Given the description of an element on the screen output the (x, y) to click on. 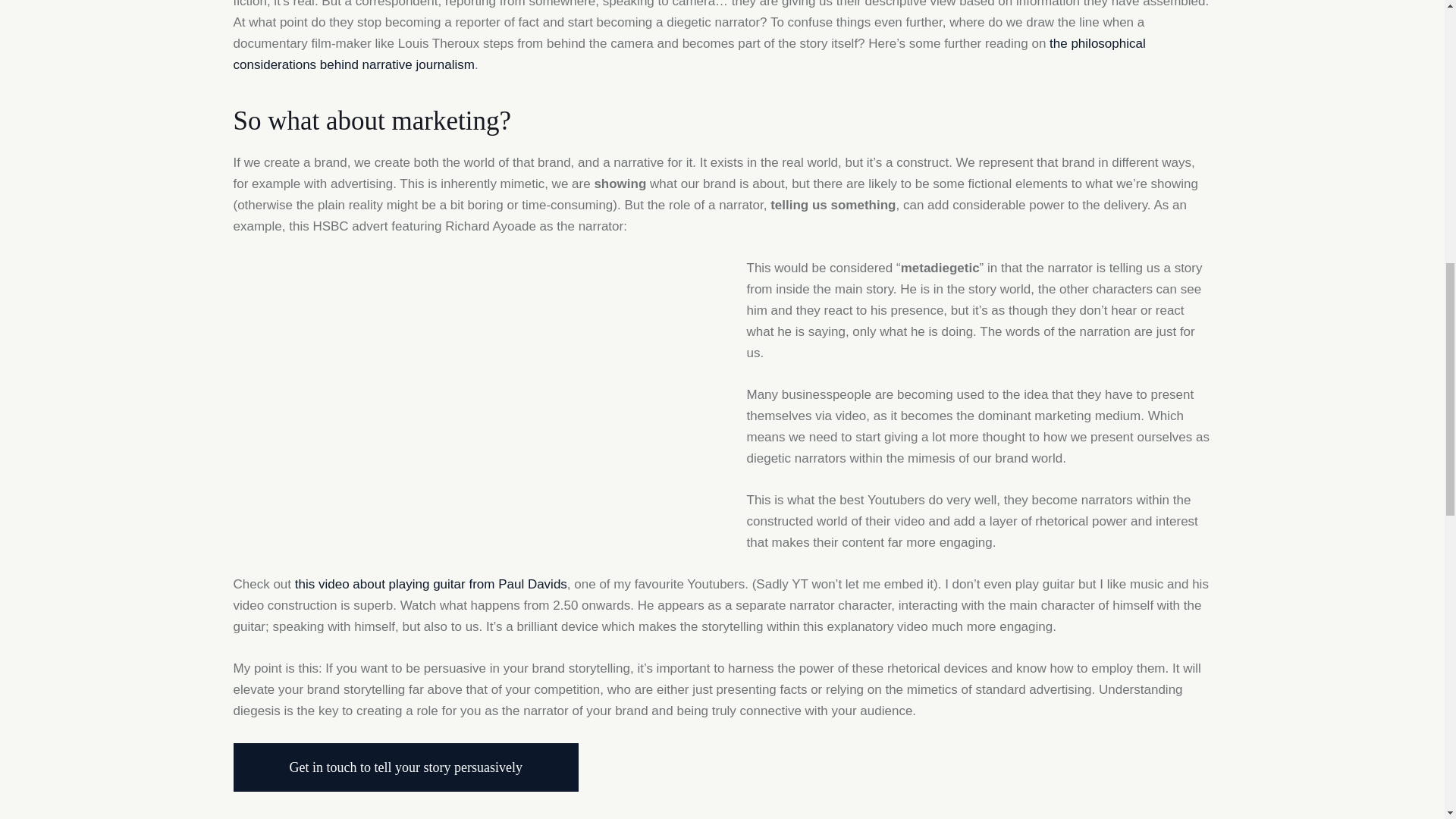
the philosophical considerations behind narrative journalism (688, 54)
Get in touch to tell your story persuasively (405, 766)
this video about playing guitar from Paul Davids (431, 584)
HSBC UK Global Citizen TV ad (465, 388)
